Given the description of an element on the screen output the (x, y) to click on. 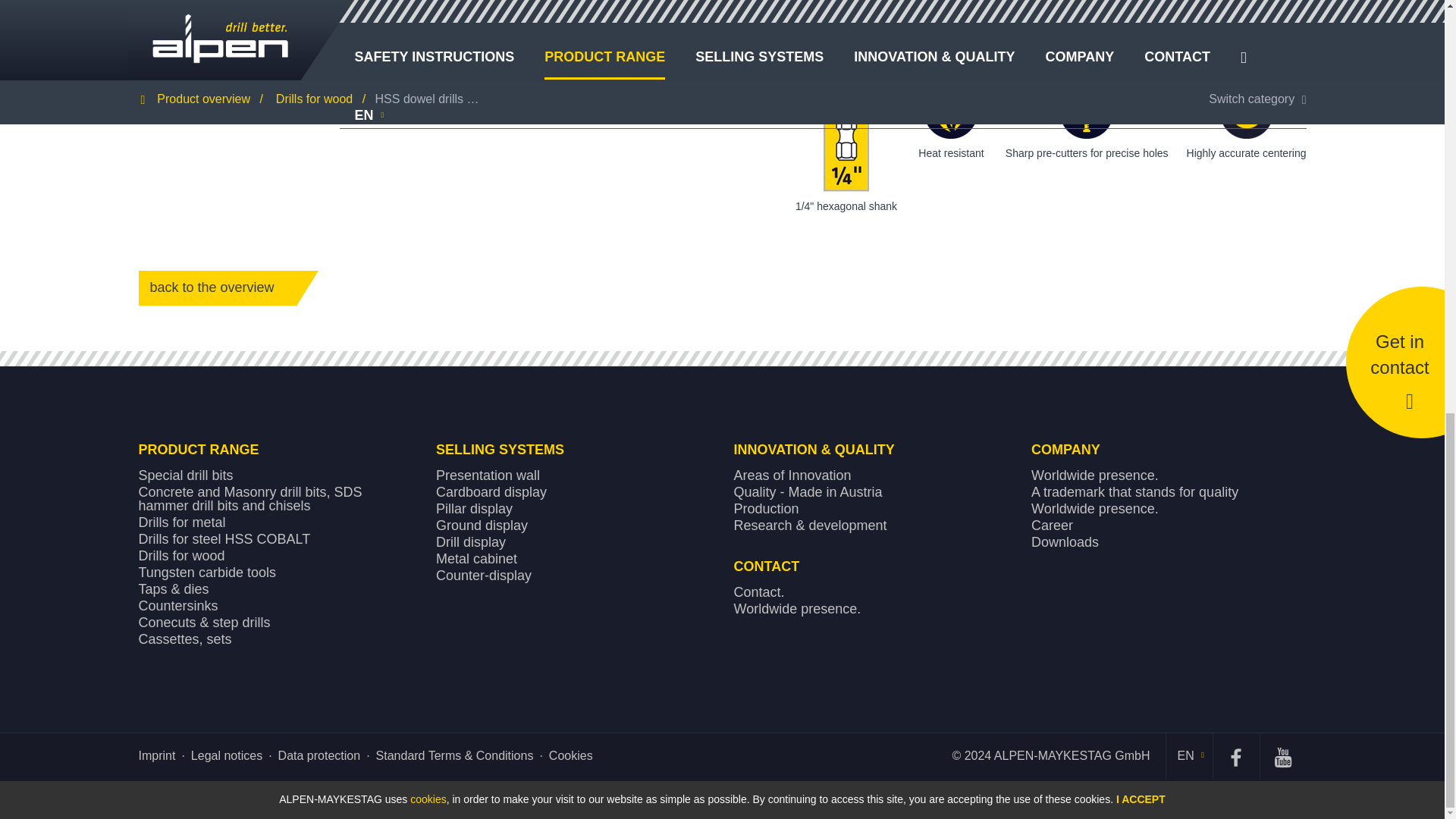
Highly accurate centering (1246, 111)
Sharp pre-cutters for precise holes (1086, 111)
Heat resistant (950, 111)
